Given the description of an element on the screen output the (x, y) to click on. 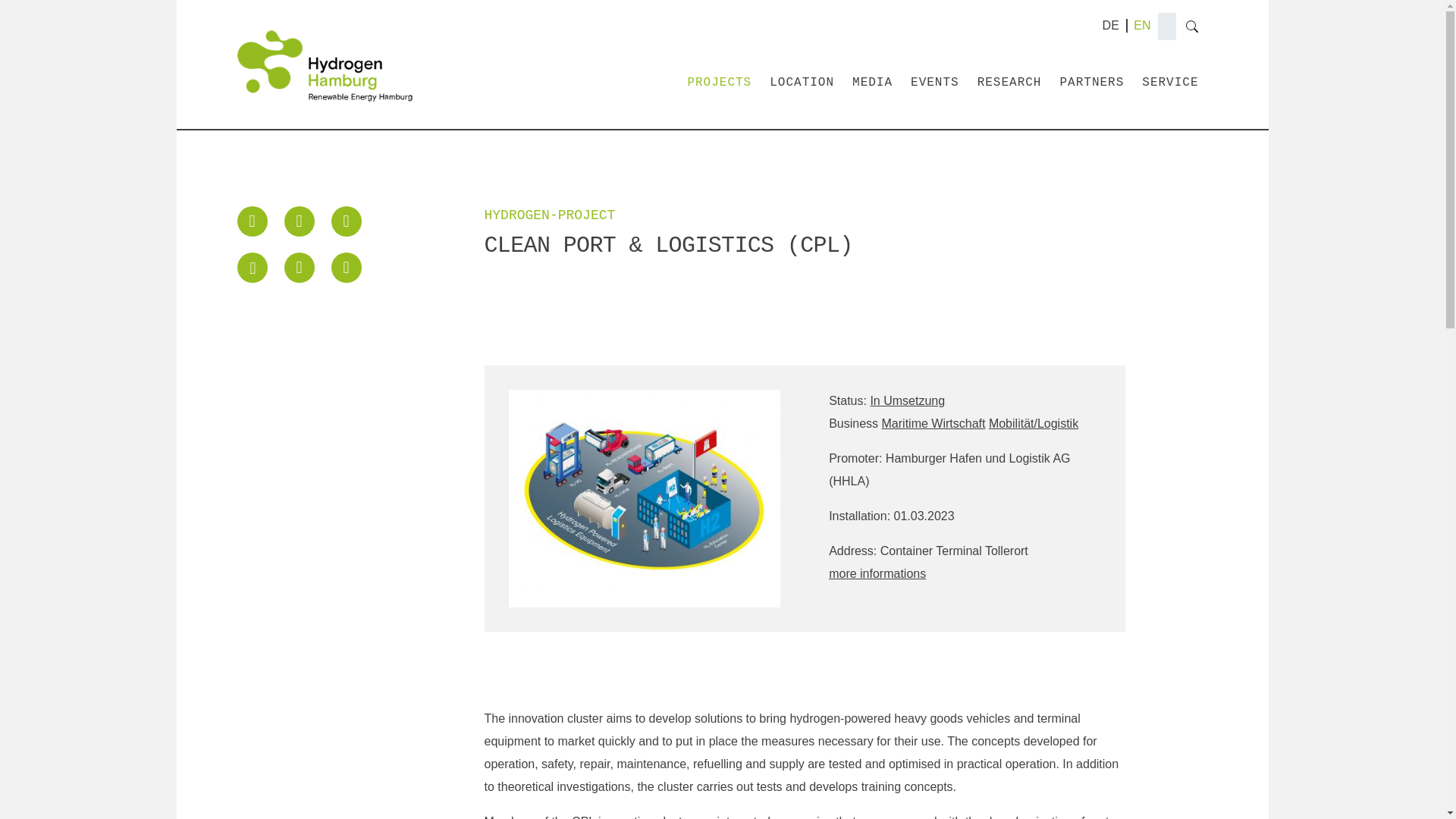
DE (1110, 24)
PROJECTS (719, 82)
Details (1110, 24)
EVENTS (935, 82)
Projects (719, 82)
PARTNERS (1091, 82)
Maritime Wirtschaft (933, 422)
more informations (877, 573)
Location (802, 82)
Service (1169, 82)
